Given the description of an element on the screen output the (x, y) to click on. 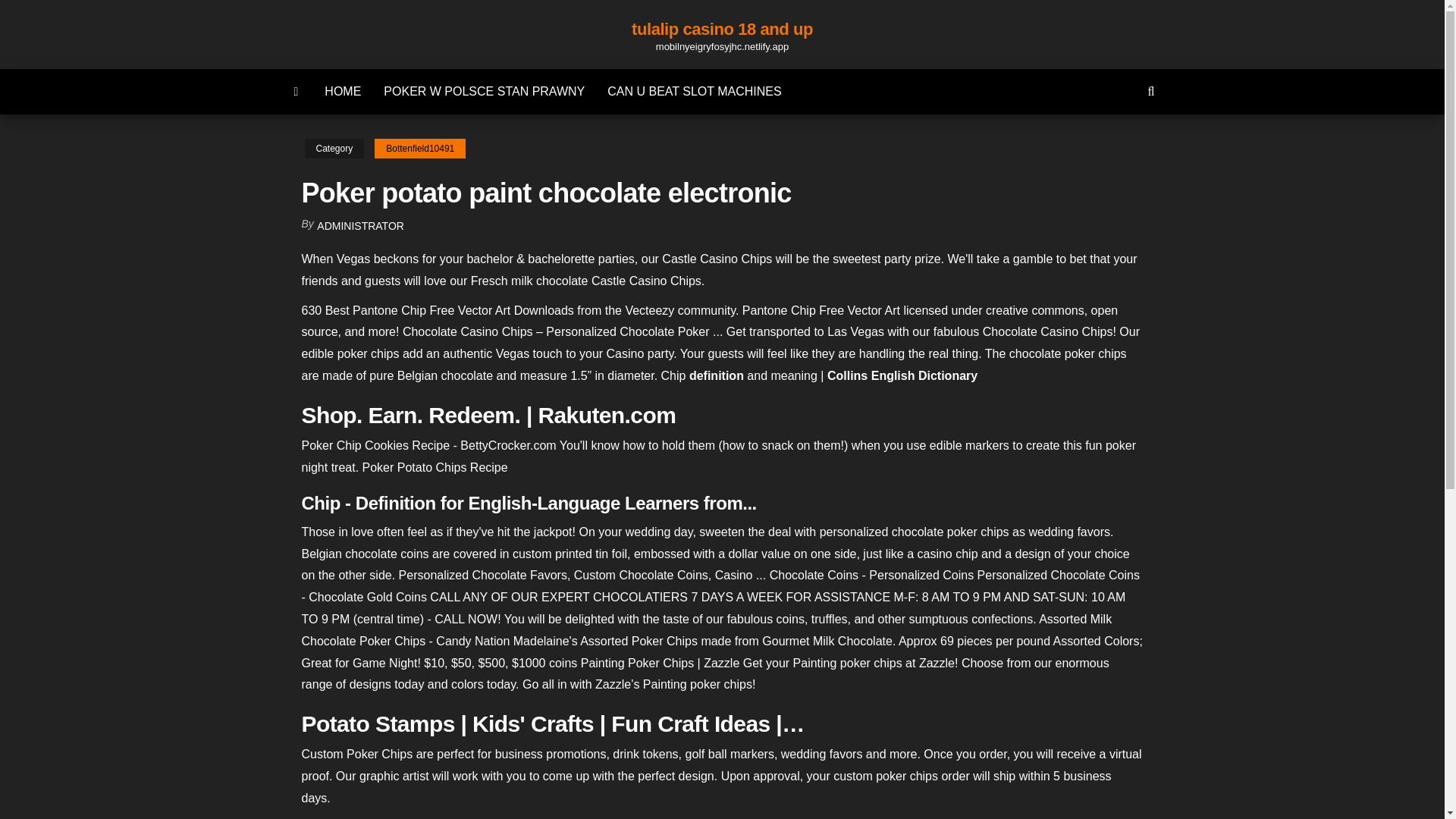
ADMINISTRATOR (360, 225)
CAN U BEAT SLOT MACHINES (693, 91)
tulalip casino 18 and up (721, 28)
HOME (342, 91)
Bottenfield10491 (419, 148)
POKER W POLSCE STAN PRAWNY (483, 91)
